Given the description of an element on the screen output the (x, y) to click on. 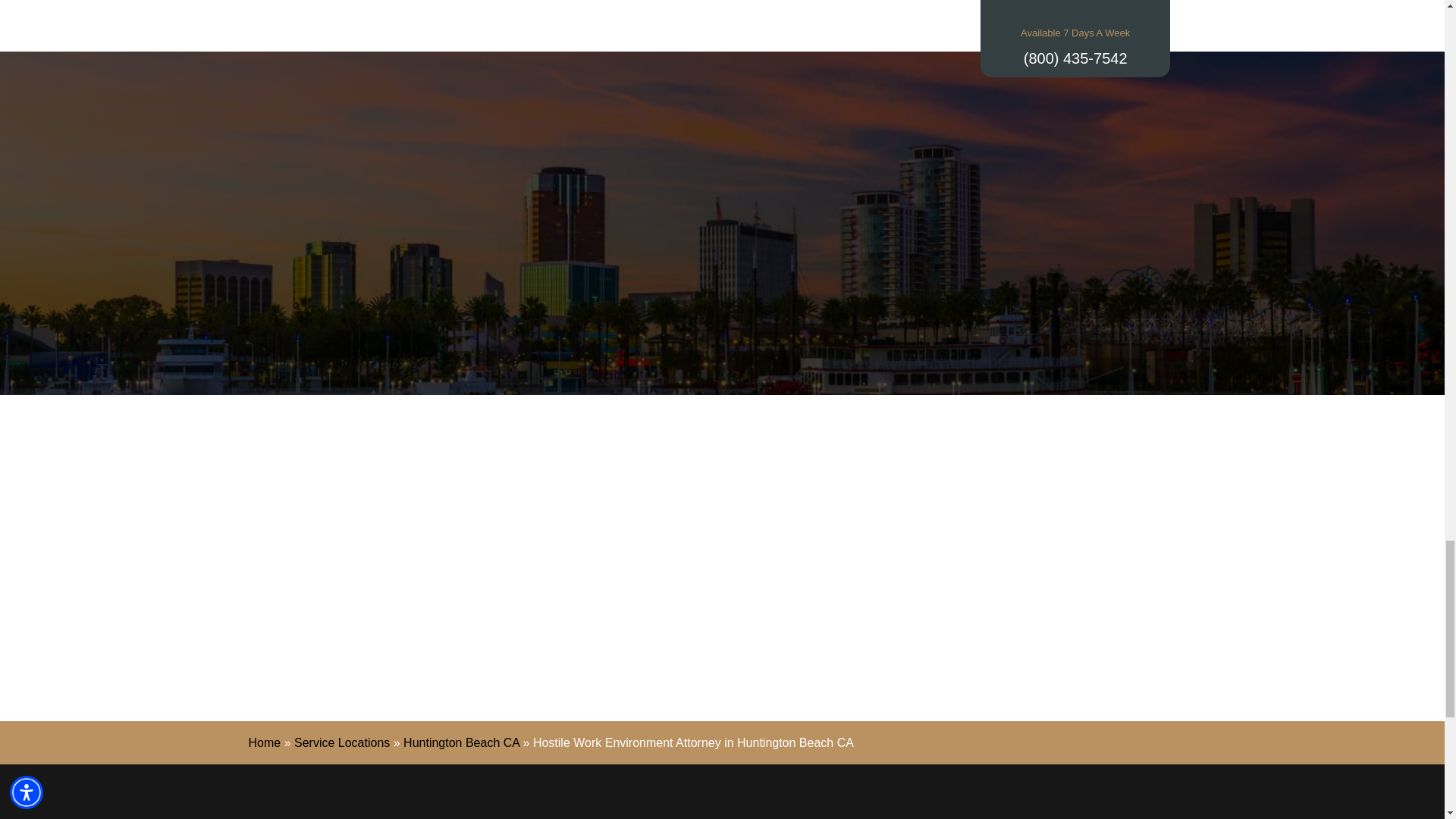
View the profile of Southern California Workers'  (916, 603)
Top 10 Jury Verdicts All Practice Area PLBH (526, 603)
Top 10 Jury Verdicts All Practice Area Todd H. Harrison (331, 603)
This Firm is Lead Counsel Verified. (1112, 603)
